Given the description of an element on the screen output the (x, y) to click on. 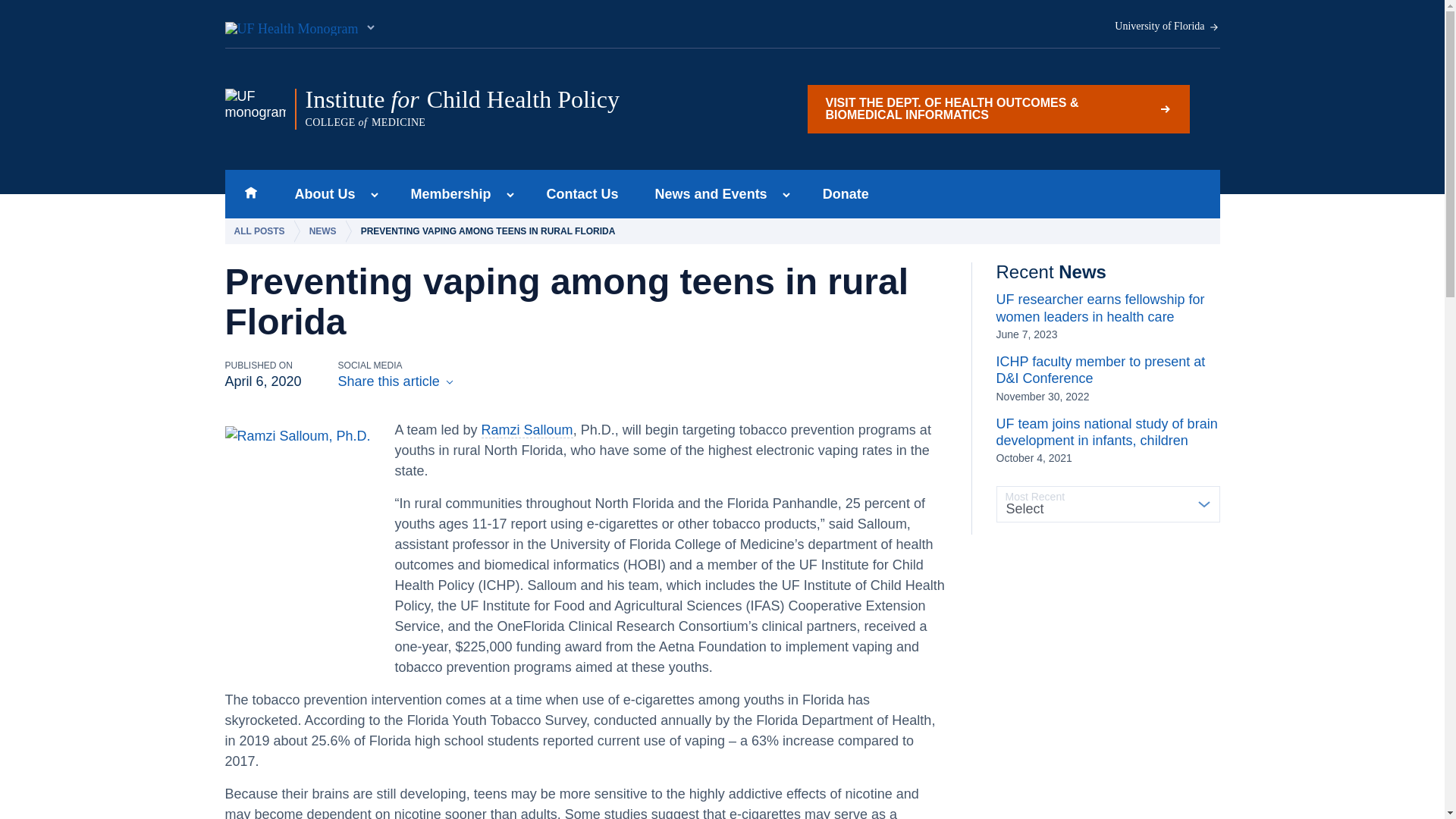
UF Health (299, 24)
News and Events (706, 193)
University of Florida (1167, 26)
About Us (320, 193)
Donate (845, 193)
NEWS (325, 231)
Ramzi Salloum (527, 430)
Contact Us (582, 193)
